Given the description of an element on the screen output the (x, y) to click on. 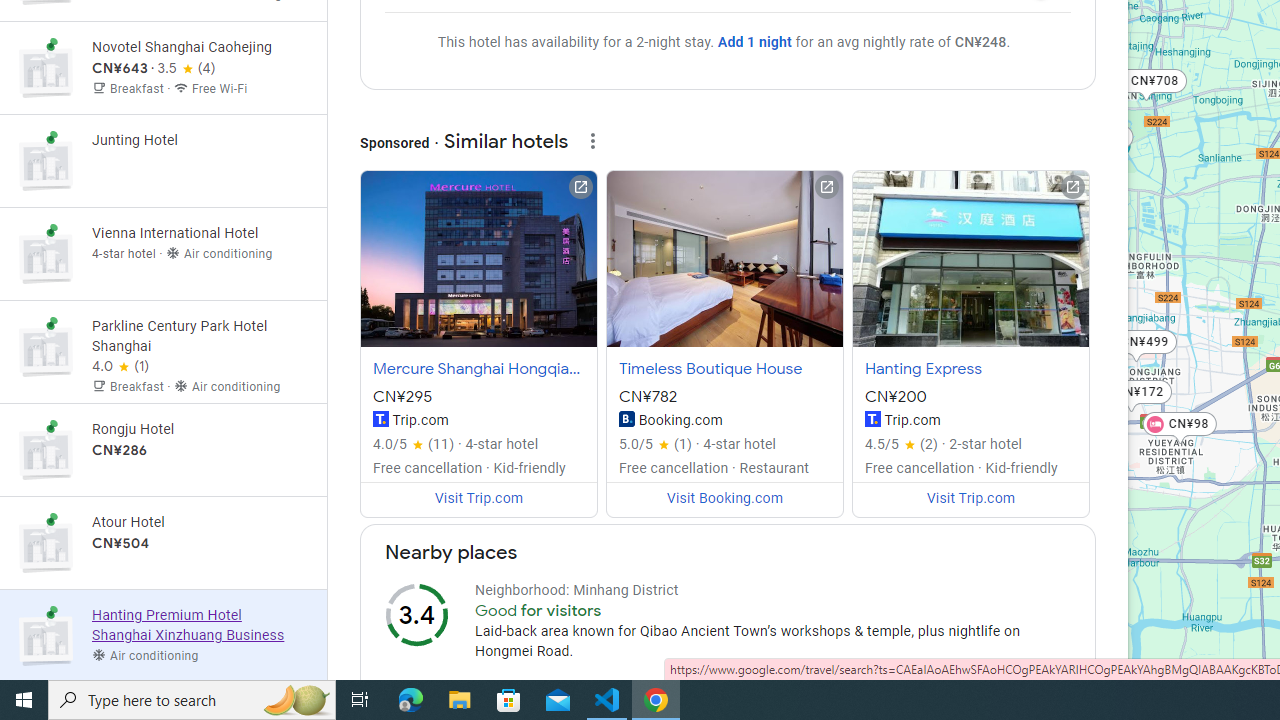
4.5 out of 5 stars from 2 reviews (902, 444)
5 out of 5 stars from 1 reviews (655, 444)
View prices for Atour Hotel (200, 612)
3.4 out of 5 (416, 614)
View prices for Z Hotel (200, 44)
Booking.com (626, 418)
Add 1 night (754, 42)
Junting Hotel (163, 161)
View prices for Parkline Century Park Hotel Shanghai (200, 426)
